Given the description of an element on the screen output the (x, y) to click on. 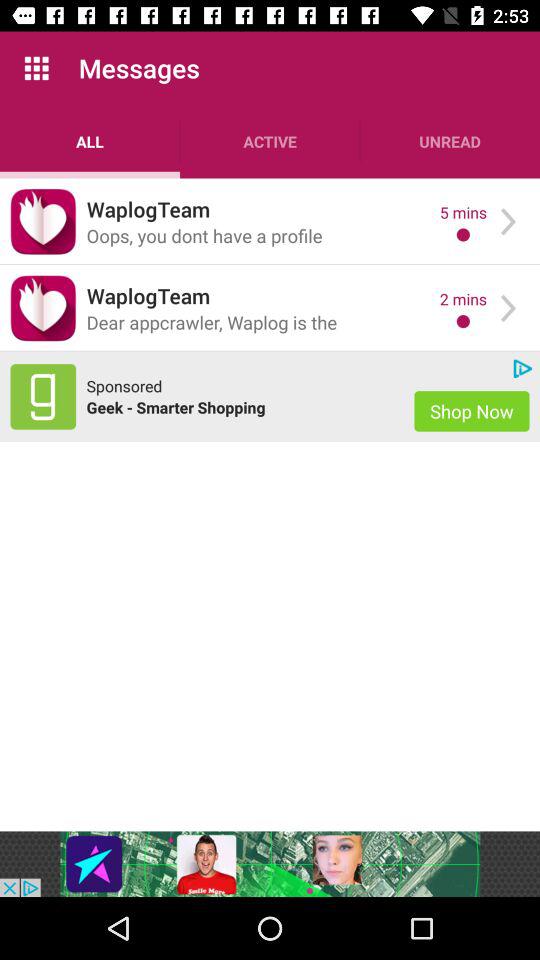
favorited (43, 308)
